Given the description of an element on the screen output the (x, y) to click on. 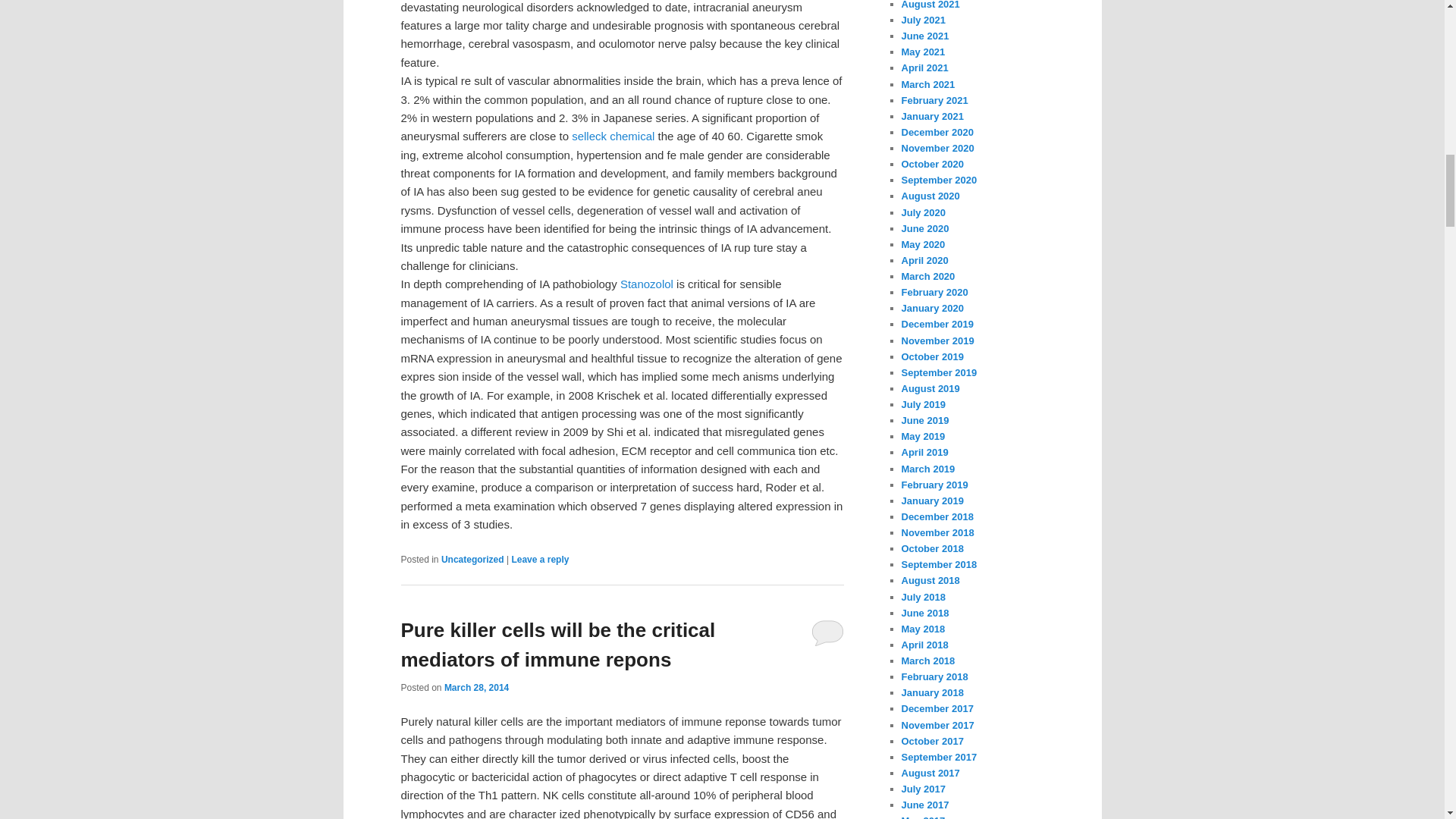
selleck chemical (612, 135)
Stanozolol (646, 283)
Leave a reply (540, 559)
March 28, 2014 (476, 687)
Uncategorized (472, 559)
View all posts in Uncategorized (472, 559)
